Given the description of an element on the screen output the (x, y) to click on. 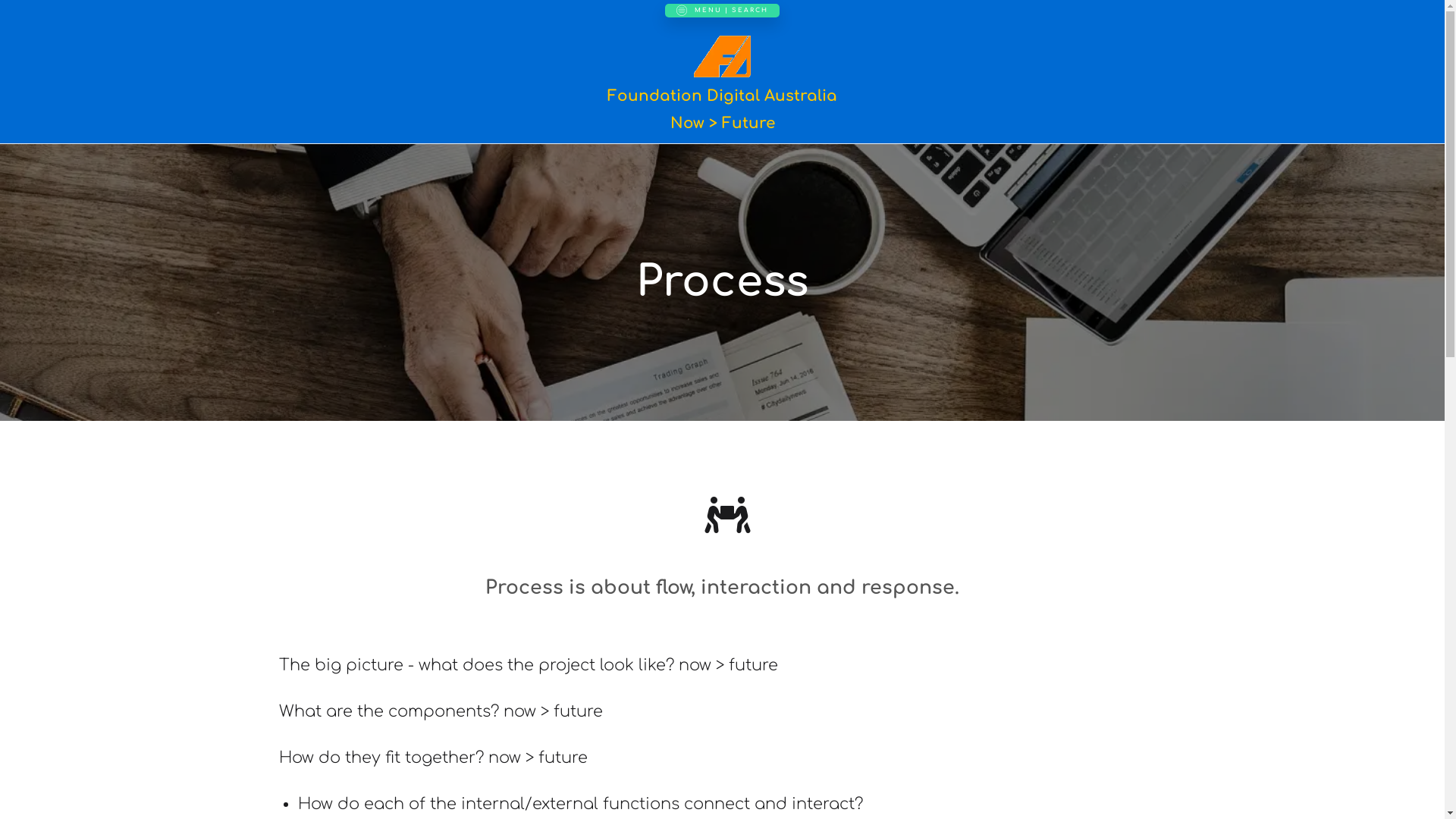
MENU | SEARCH Element type: text (722, 10)
